Given the description of an element on the screen output the (x, y) to click on. 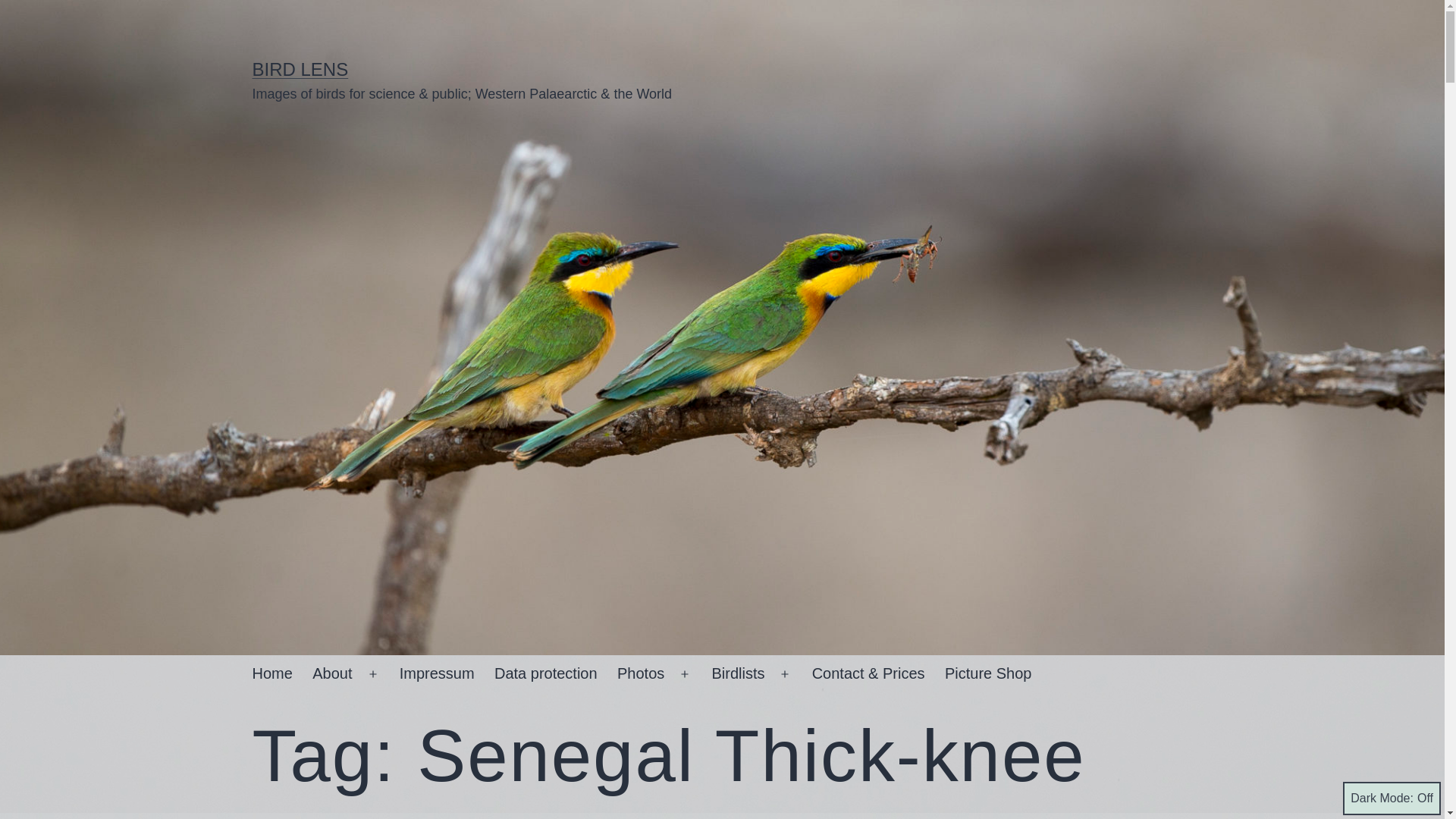
Data protection (545, 673)
Birdlists (737, 673)
BIRD LENS (299, 68)
Photos (641, 673)
Home (271, 673)
About (332, 673)
Picture Shop (988, 673)
Impressum (437, 673)
